Given the description of an element on the screen output the (x, y) to click on. 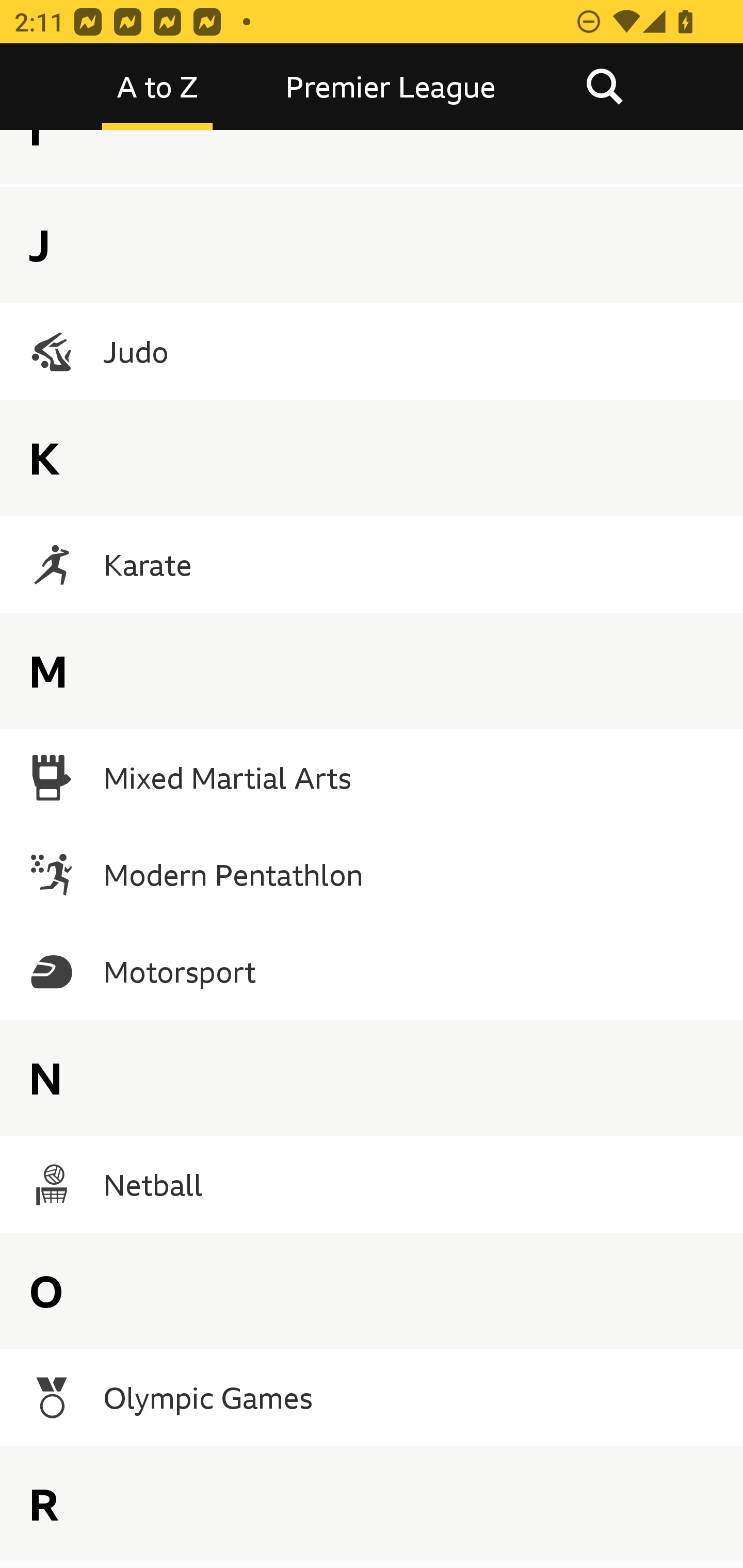
Premier League (390, 86)
Search (604, 86)
Judo (371, 350)
Karate (371, 564)
Mixed Martial Arts (371, 777)
Modern Pentathlon (371, 874)
Motorsport (371, 971)
Netball (371, 1185)
Olympic Games (371, 1397)
